Given the description of an element on the screen output the (x, y) to click on. 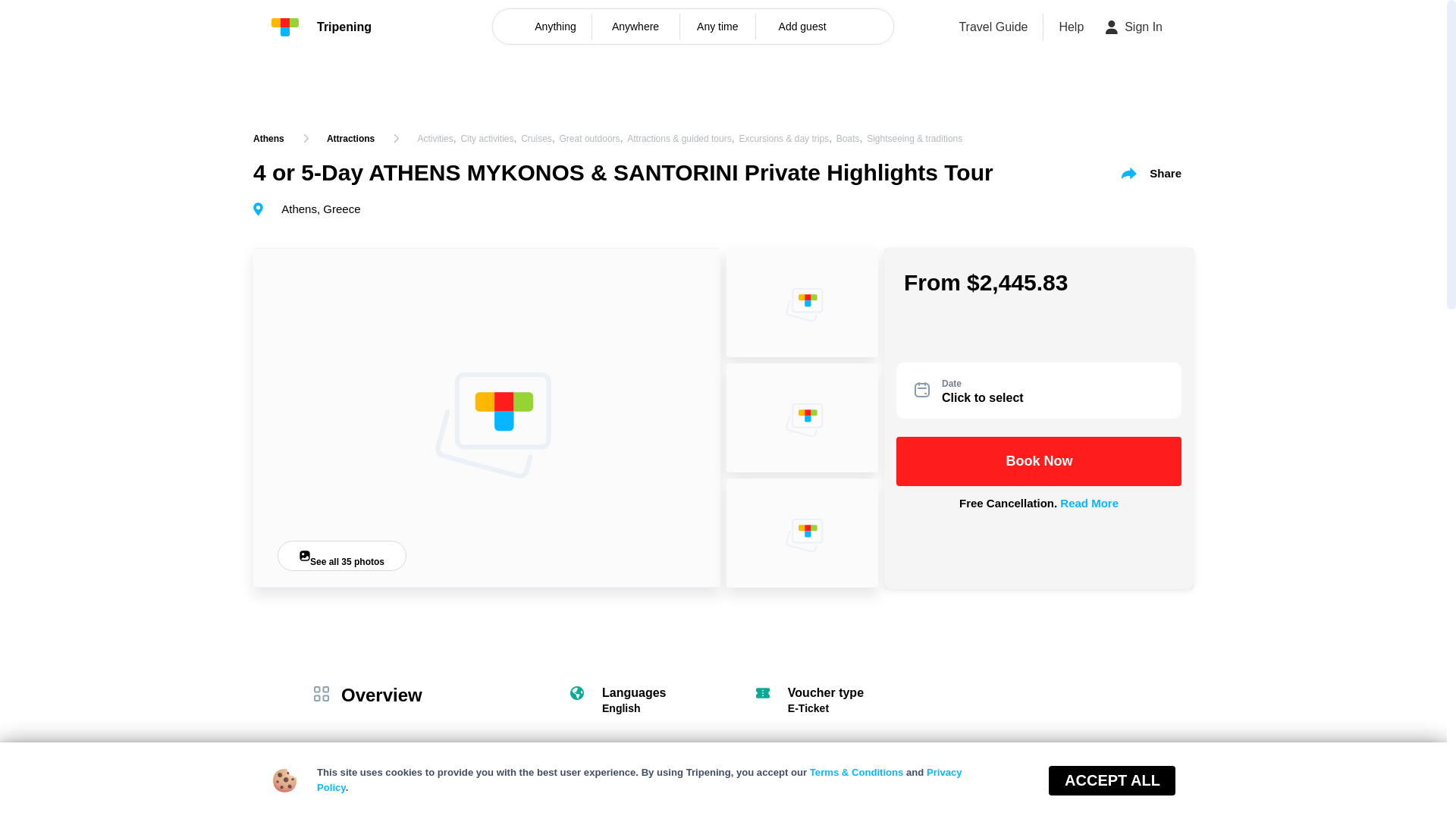
Boats (847, 138)
Book Now (1038, 461)
Activities (434, 138)
Help (1071, 26)
BOOK NOW (1354, 781)
City activities (486, 138)
Athens (268, 138)
ACCEPT ALL (1111, 780)
Sign In (1134, 26)
Share (1151, 172)
